Given the description of an element on the screen output the (x, y) to click on. 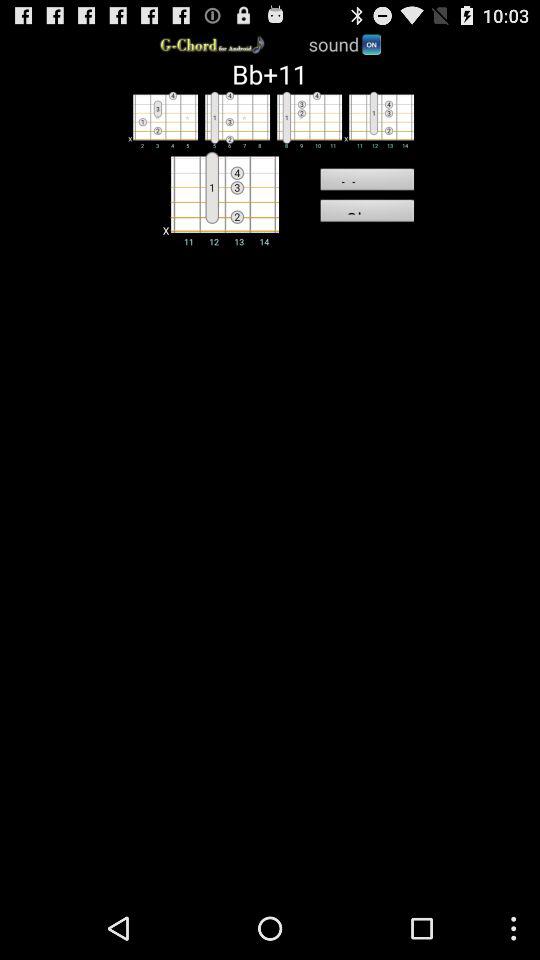
press icon to the right of the sound icon (371, 43)
